Given the description of an element on the screen output the (x, y) to click on. 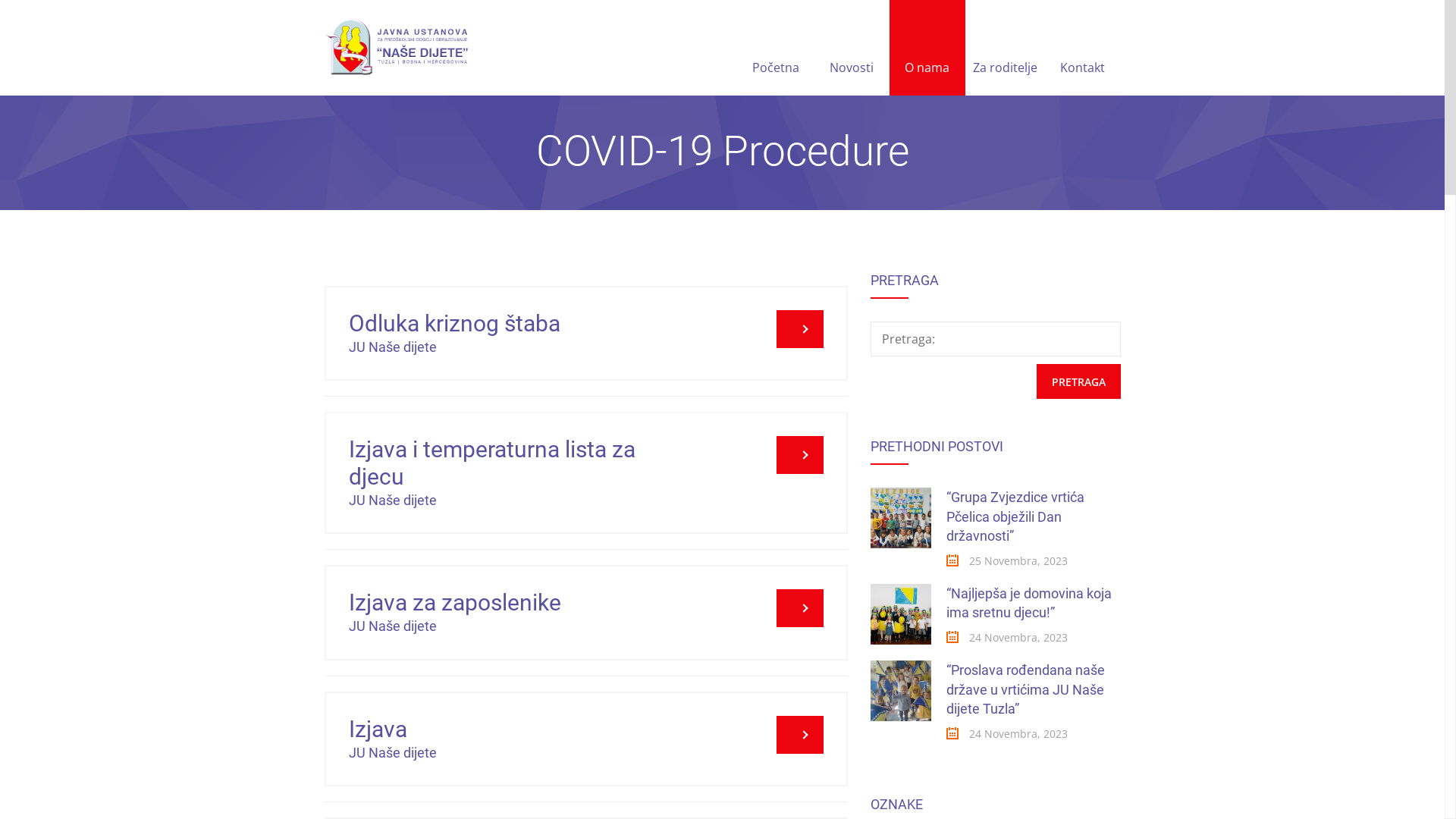
Novosti Element type: text (850, 47)
Twitter Element type: hover (740, 743)
Za roditelje Element type: text (1004, 47)
Facebook Element type: hover (704, 743)
O nama Element type: text (926, 47)
Pretraga Element type: text (1077, 381)
Kontakt Element type: text (1082, 47)
